Given the description of an element on the screen output the (x, y) to click on. 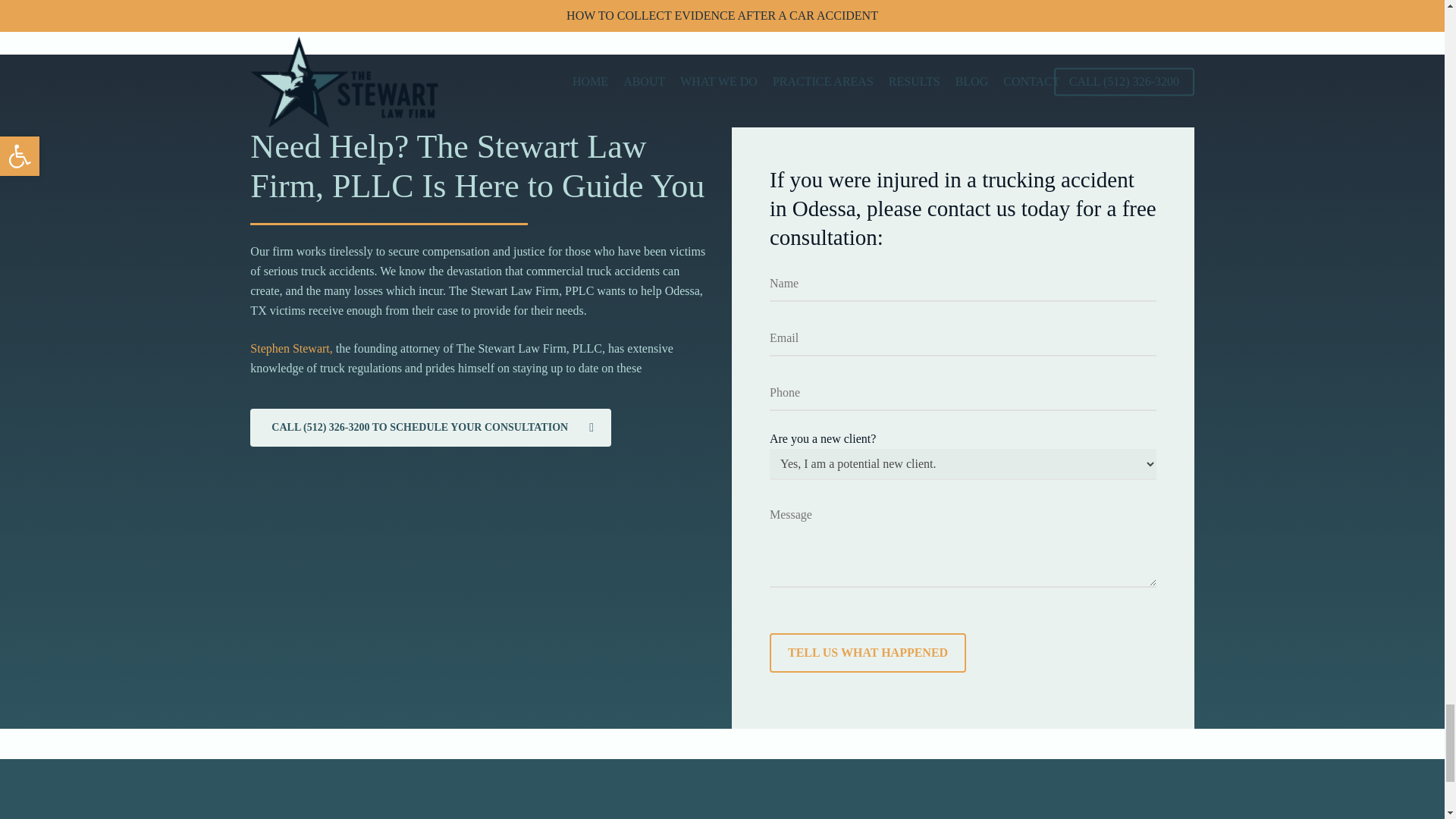
Tell us what happened (868, 652)
